Given the description of an element on the screen output the (x, y) to click on. 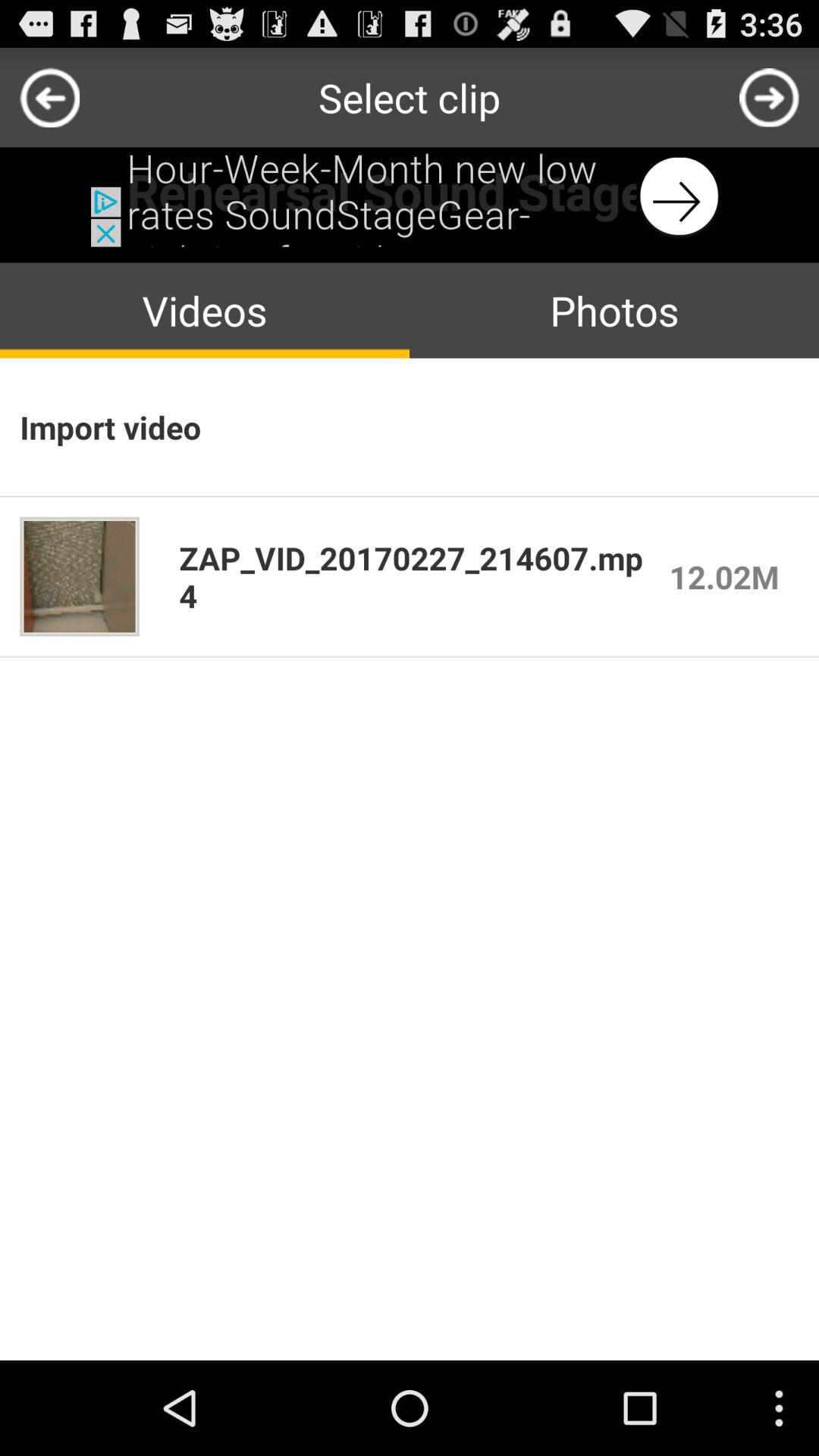
next page (769, 97)
